Given the description of an element on the screen output the (x, y) to click on. 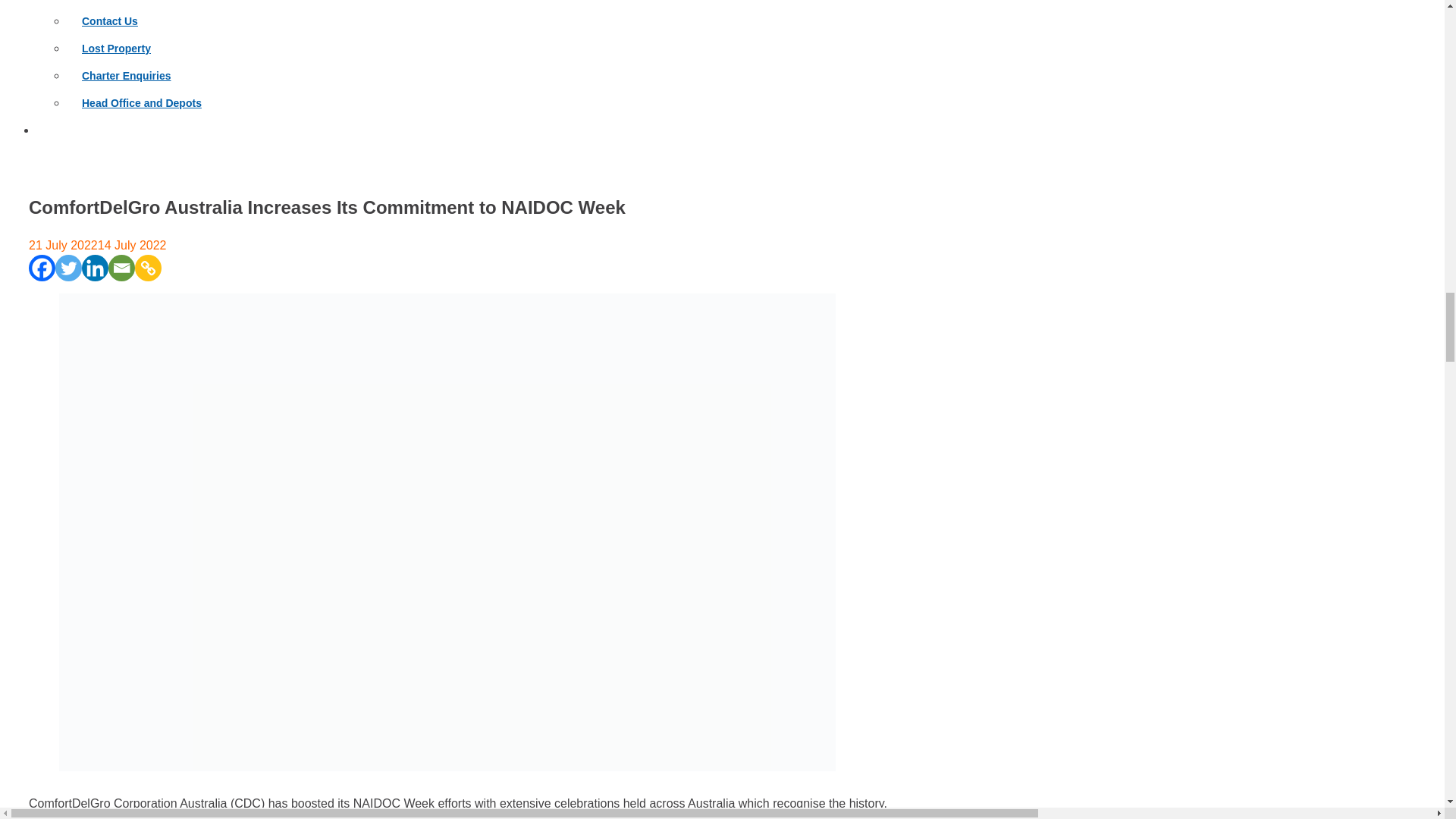
Linkedin (94, 267)
Email (121, 267)
Copy Link (148, 267)
Twitter (68, 267)
Facebook (42, 267)
